Given the description of an element on the screen output the (x, y) to click on. 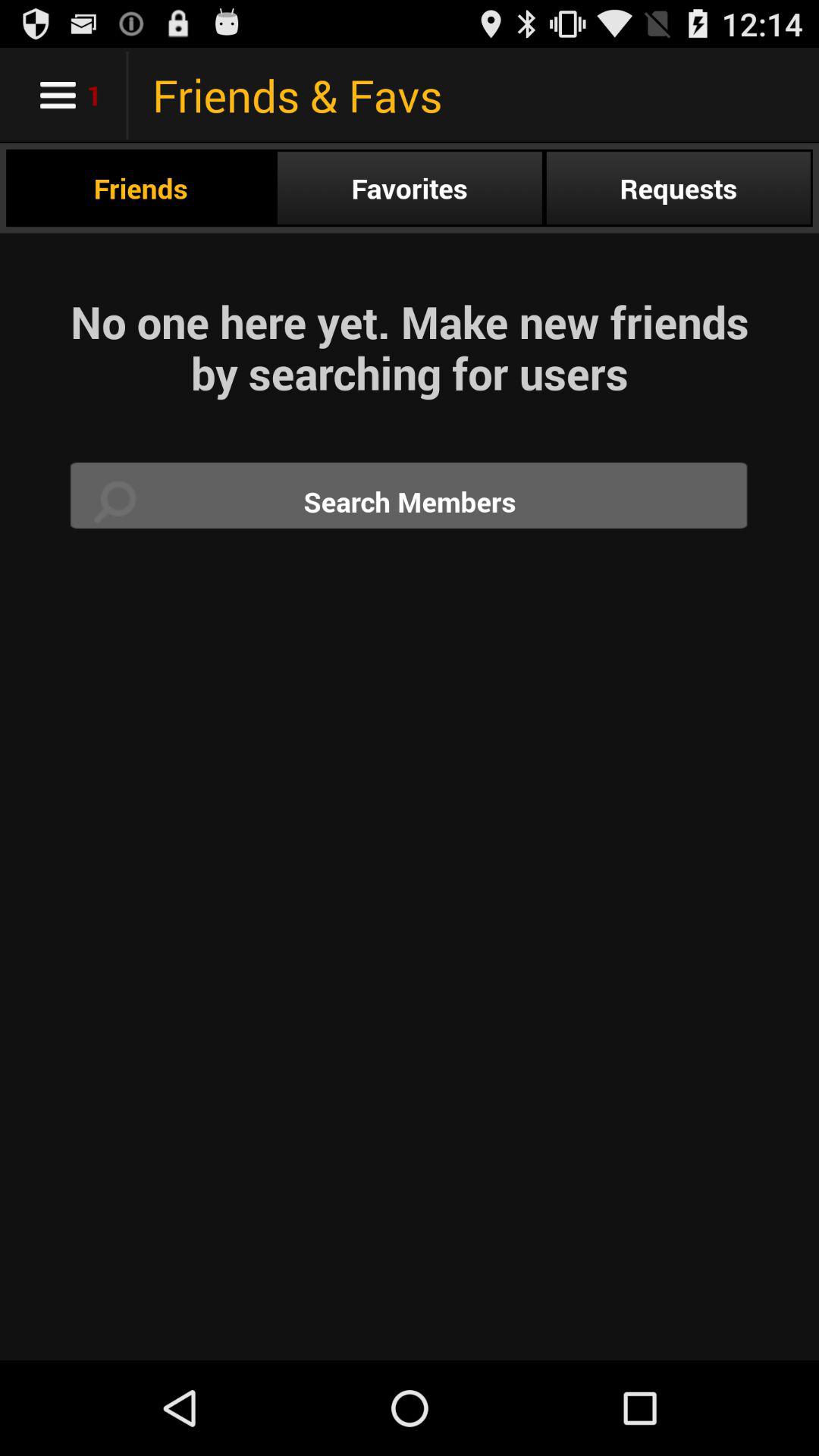
jump to the favorites item (409, 187)
